Given the description of an element on the screen output the (x, y) to click on. 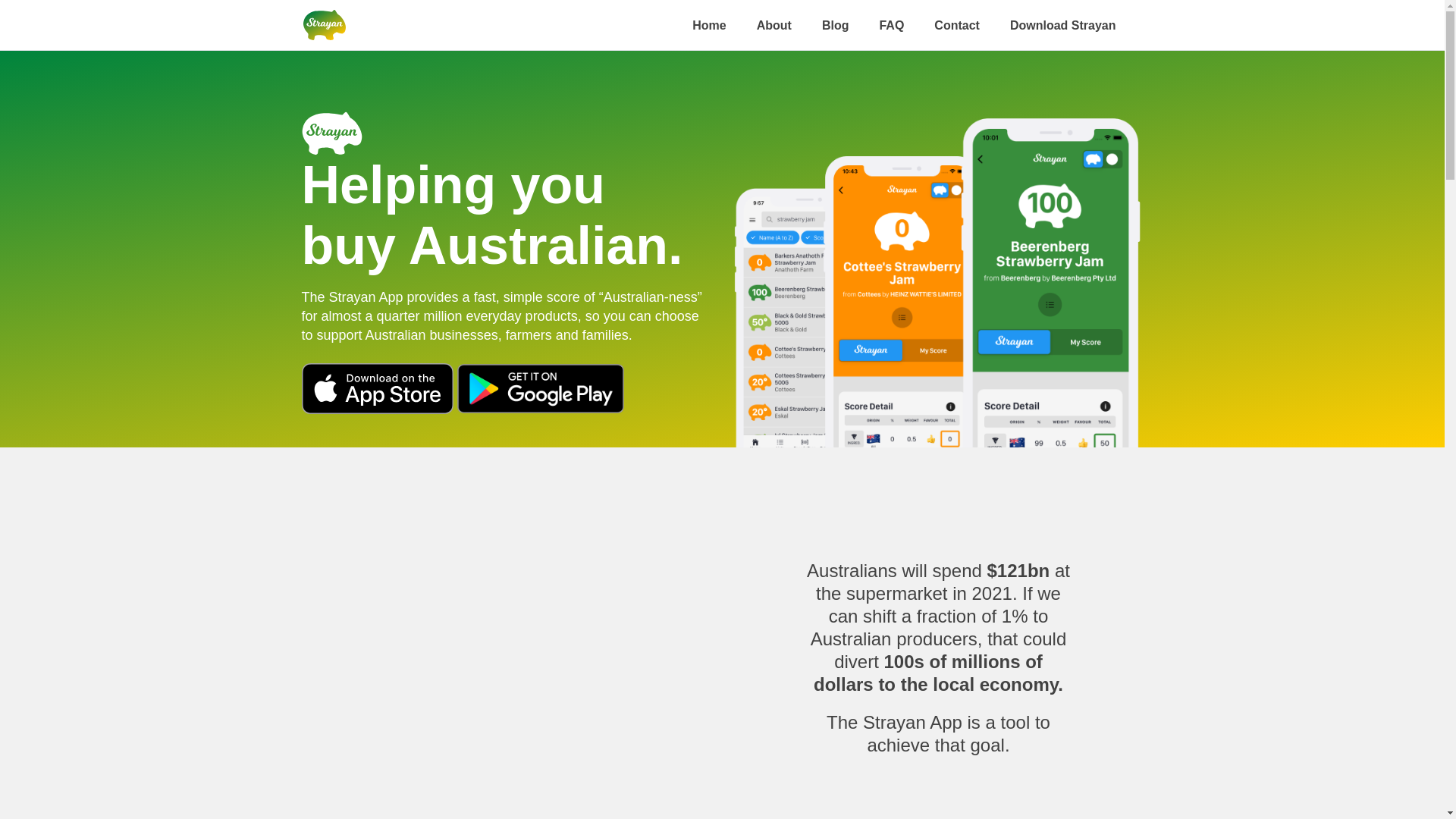
YouTube video player Element type: hover (506, 649)
Home Element type: text (708, 24)
FAQ Element type: text (891, 24)
Contact Element type: text (956, 24)
About Element type: text (773, 24)
Download Strayan Element type: text (1062, 24)
Blog Element type: text (835, 24)
